Given the description of an element on the screen output the (x, y) to click on. 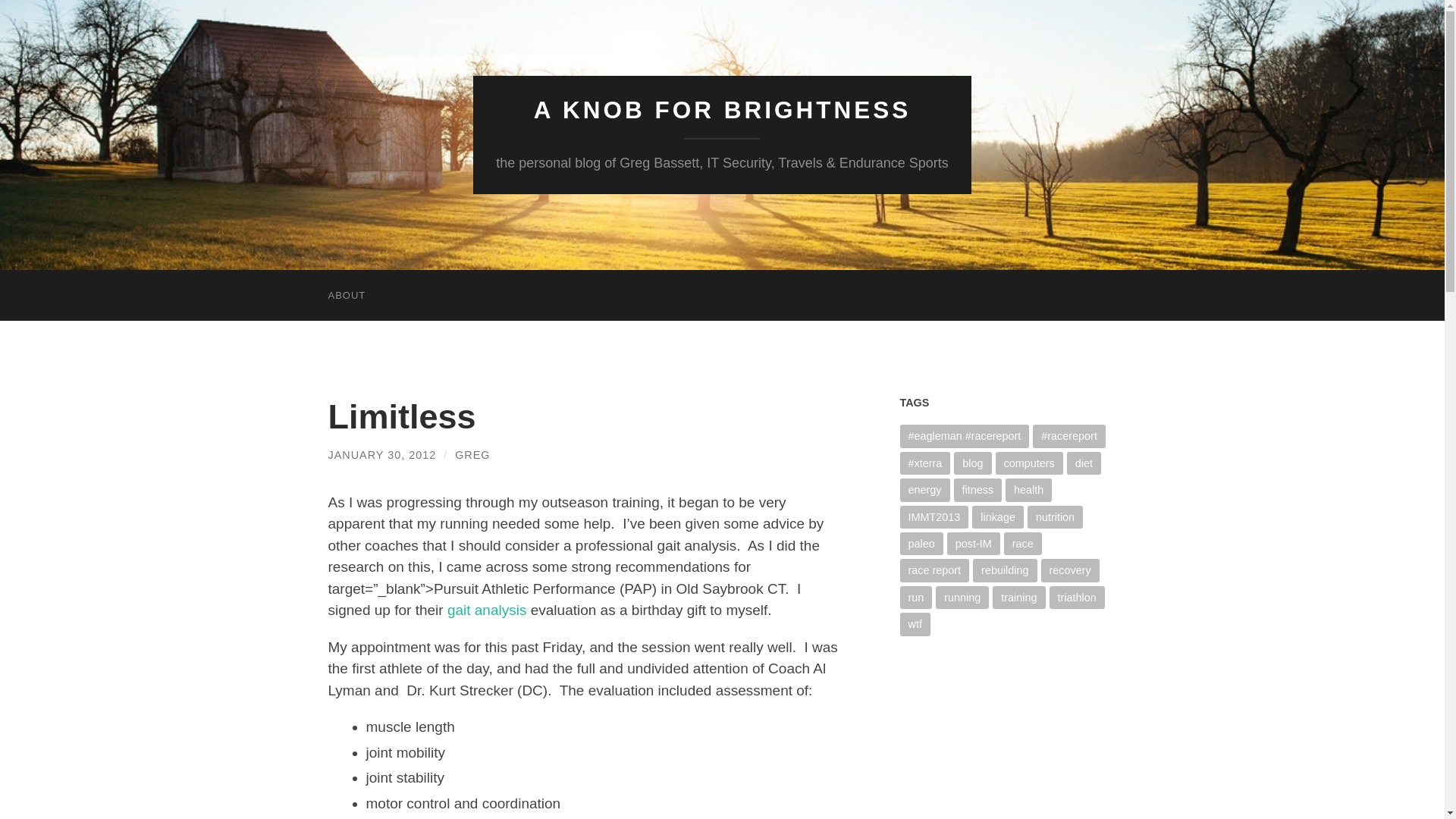
computers (1028, 463)
race (1023, 543)
linkage (997, 516)
rebuilding (1004, 569)
gait analysis (486, 609)
diet (1083, 463)
nutrition (1055, 516)
health (1028, 489)
energy (924, 489)
GREG (471, 454)
ABOUT (346, 295)
post-IM (973, 543)
IMMT2013 (933, 516)
fitness (978, 489)
blog (972, 463)
